Given the description of an element on the screen output the (x, y) to click on. 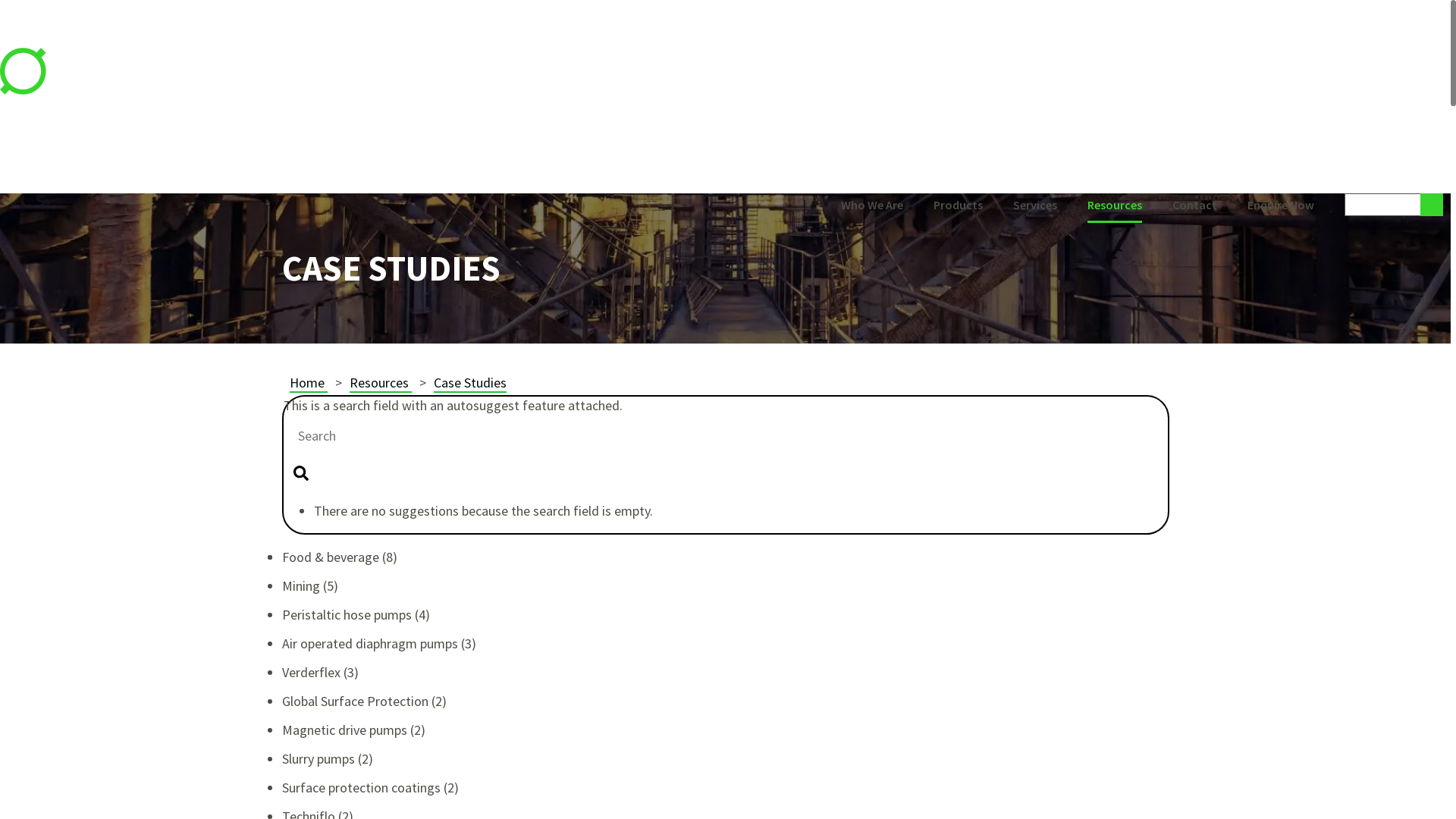
Home Element type: text (308, 382)
1300 145 622 Element type: text (1413, 154)
Products Element type: text (957, 205)
Verderflex (3) Element type: text (320, 671)
Enquire Now Element type: text (1280, 205)
Case Studies Element type: text (469, 382)
Peristaltic hose pumps (4) Element type: text (355, 614)
Slurry pumps (2) Element type: text (327, 758)
Global Surface Protection (2) Element type: text (364, 700)
Mining (5) Element type: text (310, 585)
Resources Element type: text (379, 382)
Contact Element type: text (1194, 205)
Resources Element type: text (1114, 205)
Air operated diaphragm pumps (3) Element type: text (379, 643)
Magnetic drive pumps (2) Element type: text (353, 729)
Who We Are Element type: text (871, 205)
Surface protection coatings (2) Element type: text (370, 787)
Services Element type: text (1035, 205)
sales@globalpumps.com.au Element type: text (1368, 172)
Food & beverage (8) Element type: text (339, 556)
logo2 Element type: hover (80, 73)
